Given the description of an element on the screen output the (x, y) to click on. 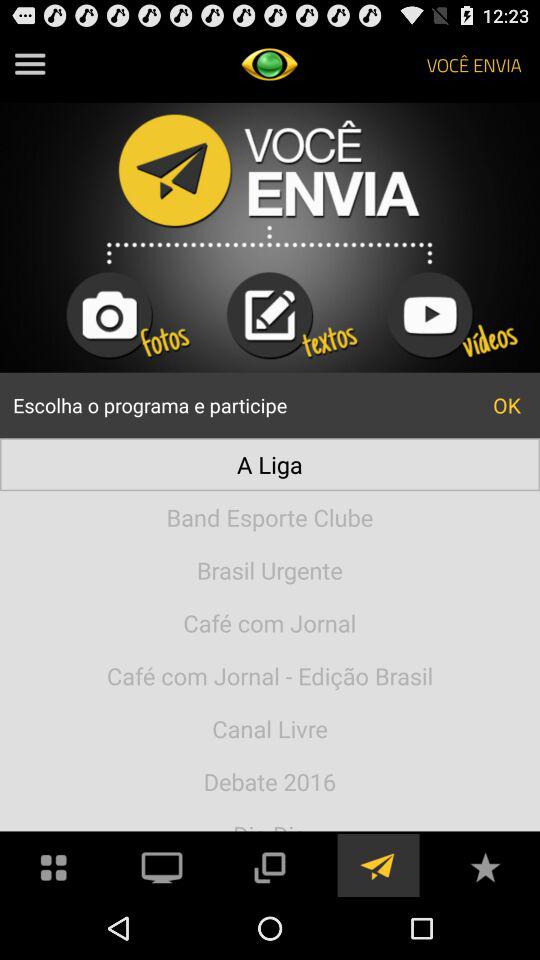
messages (377, 865)
